Given the description of an element on the screen output the (x, y) to click on. 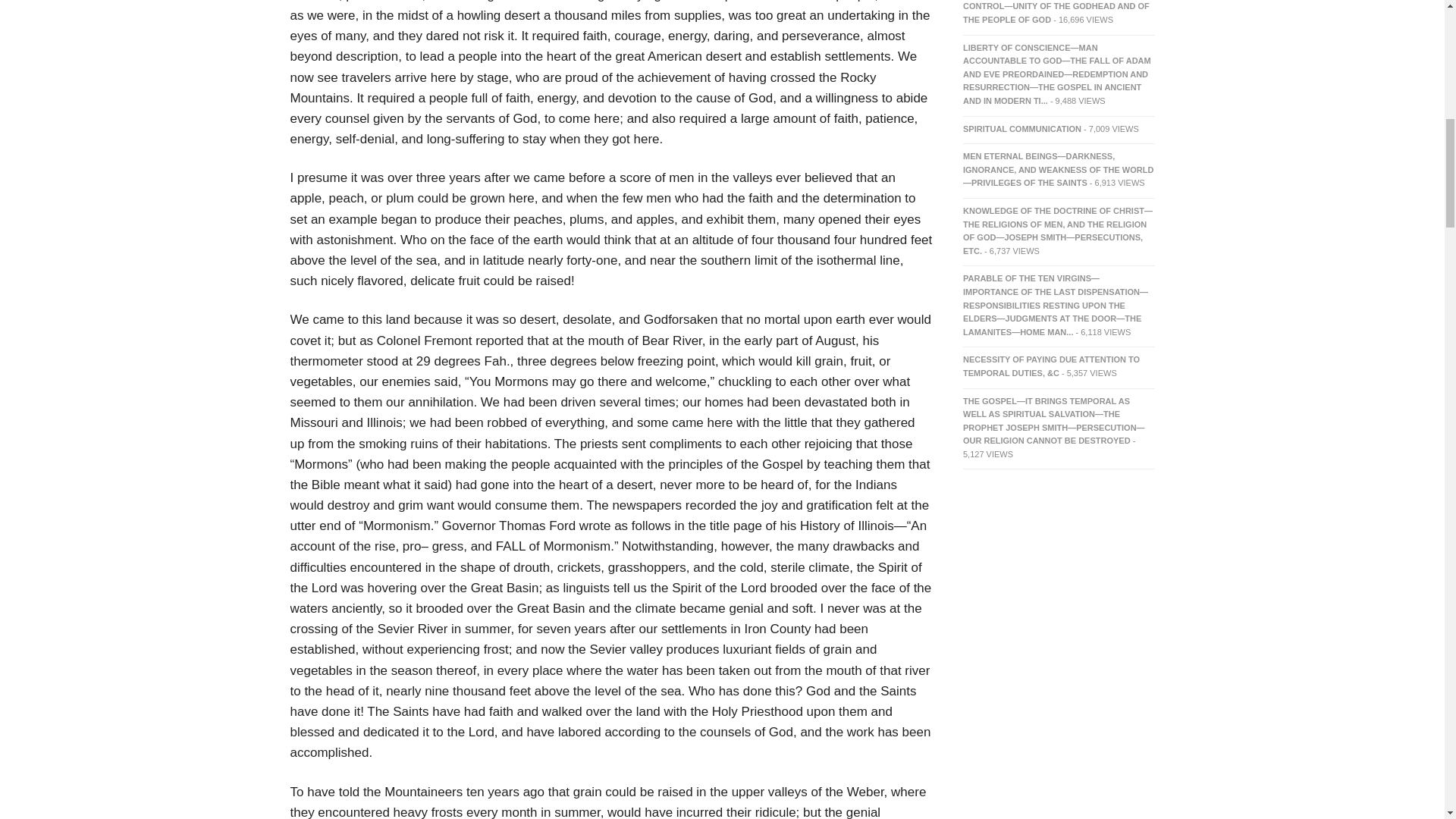
Spiritual Communication (1021, 128)
